Given the description of an element on the screen output the (x, y) to click on. 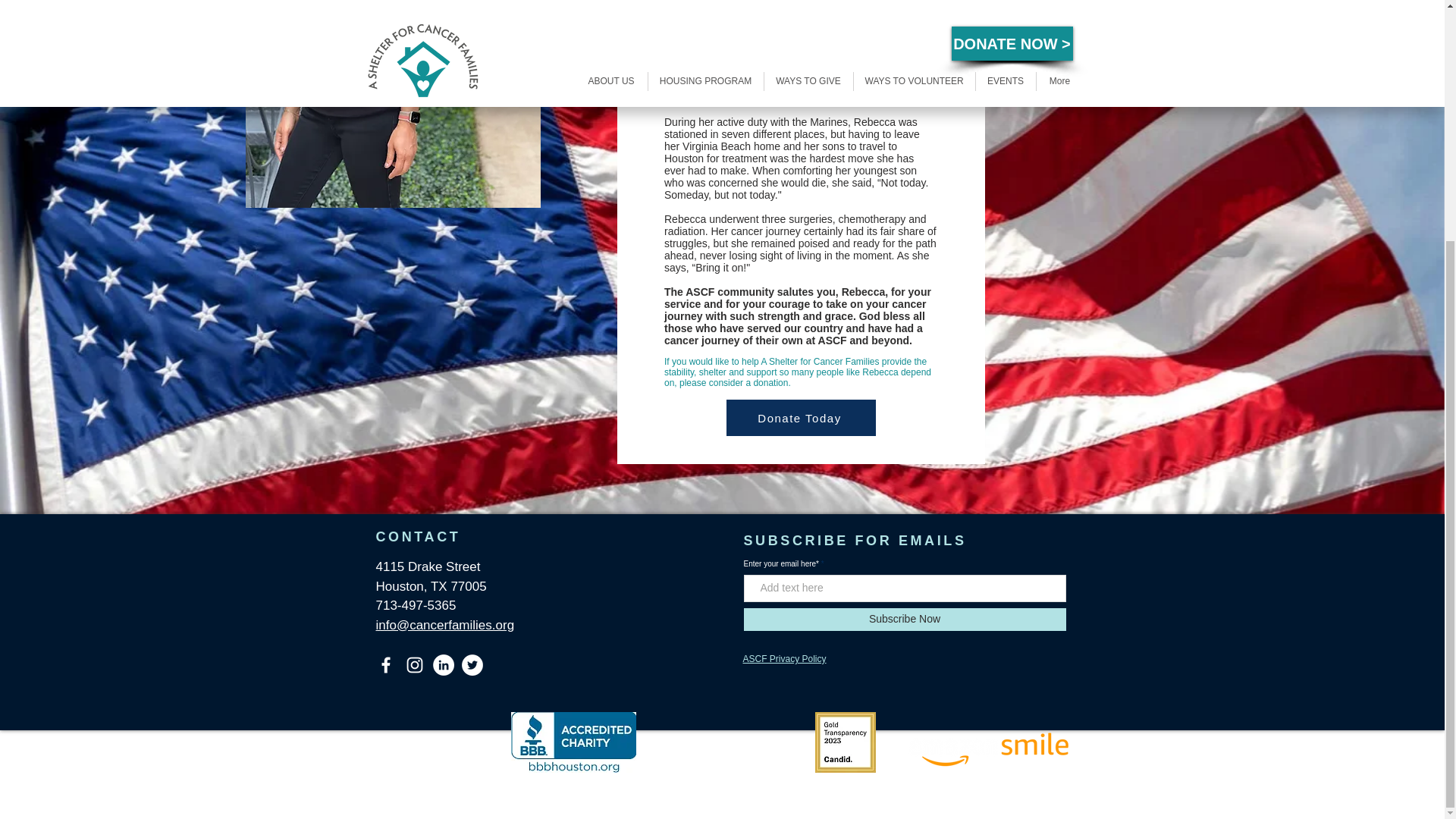
Donate Today (801, 417)
Embedded Content (438, 742)
Embedded Content (724, 745)
Subscribe Now (903, 619)
ASCF Privacy Policy (784, 658)
